Given the description of an element on the screen output the (x, y) to click on. 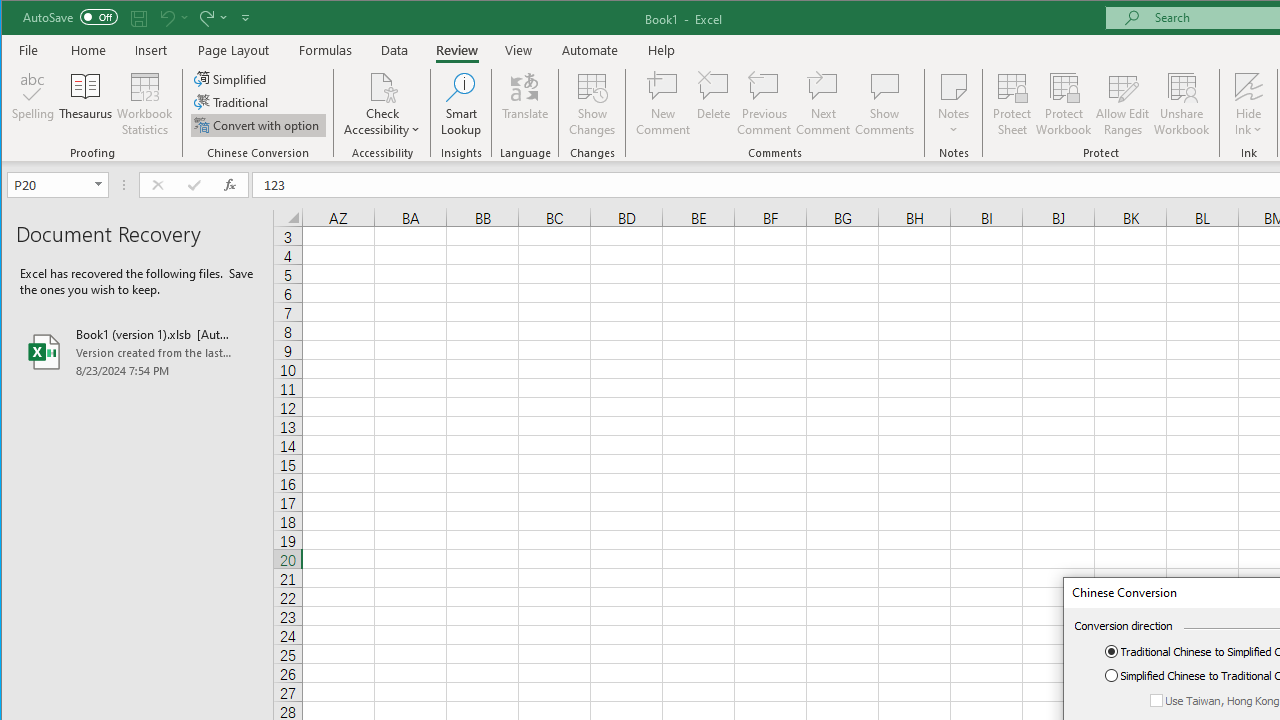
Hide Ink (1248, 104)
Spelling... (33, 104)
Smart Lookup (461, 104)
Book1 (version 1).xlsb  [AutoRecovered] (137, 352)
Unshare Workbook (1182, 104)
Show Changes (592, 104)
Notes (954, 104)
